Given the description of an element on the screen output the (x, y) to click on. 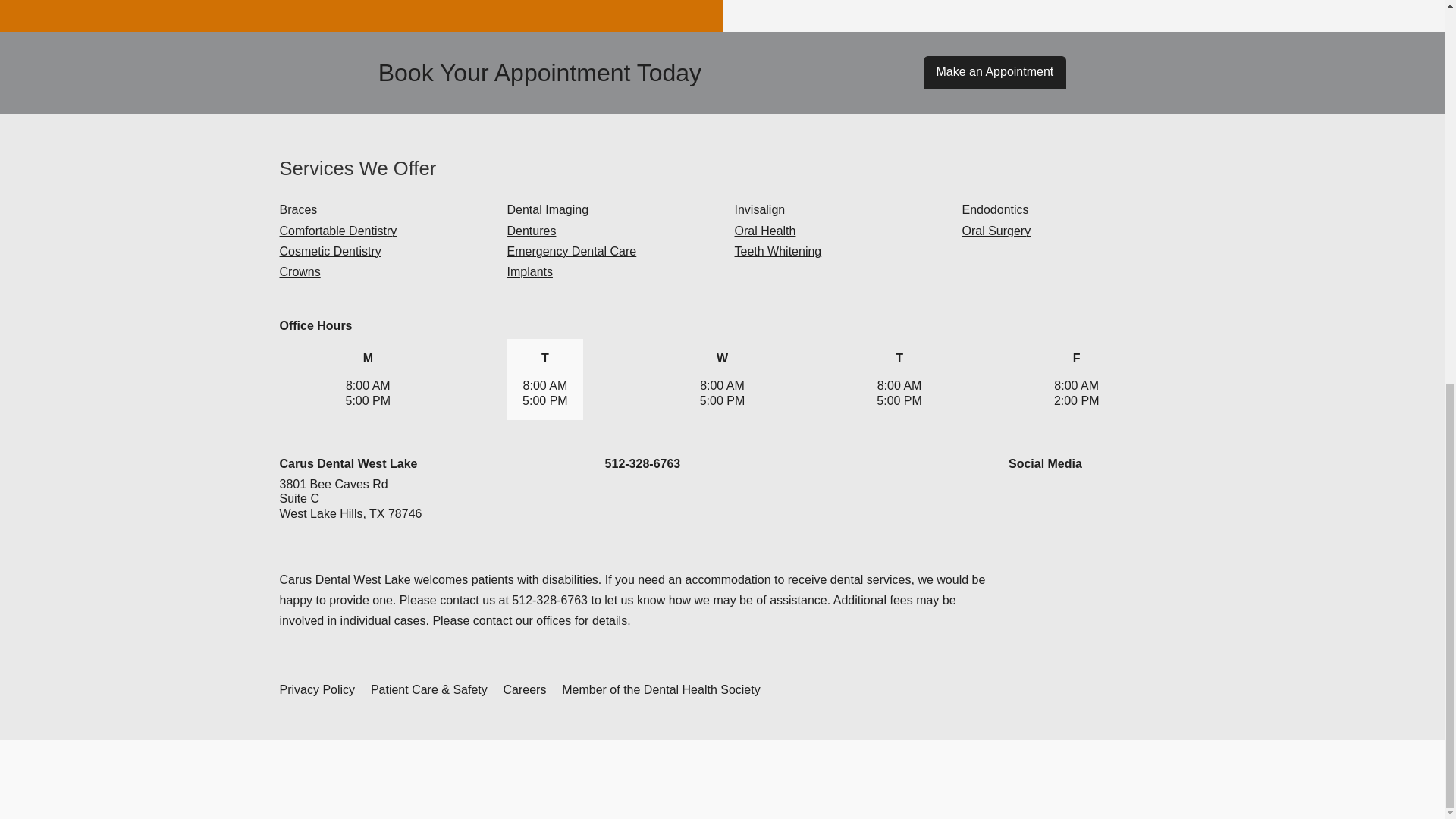
Oral Health (763, 230)
Facebook (1020, 496)
Make an Appointment (995, 72)
Careers (525, 689)
Comfortable Dentistry (337, 230)
Emergency Dental Care (571, 250)
512-328-6763 (643, 463)
Oral Surgery (995, 230)
Implants (528, 271)
Crowns (299, 271)
Invisalign (758, 209)
Dentures (531, 230)
Endodontics (993, 209)
Member of the Dental Health Society (661, 689)
Teeth Whitening (777, 250)
